Given the description of an element on the screen output the (x, y) to click on. 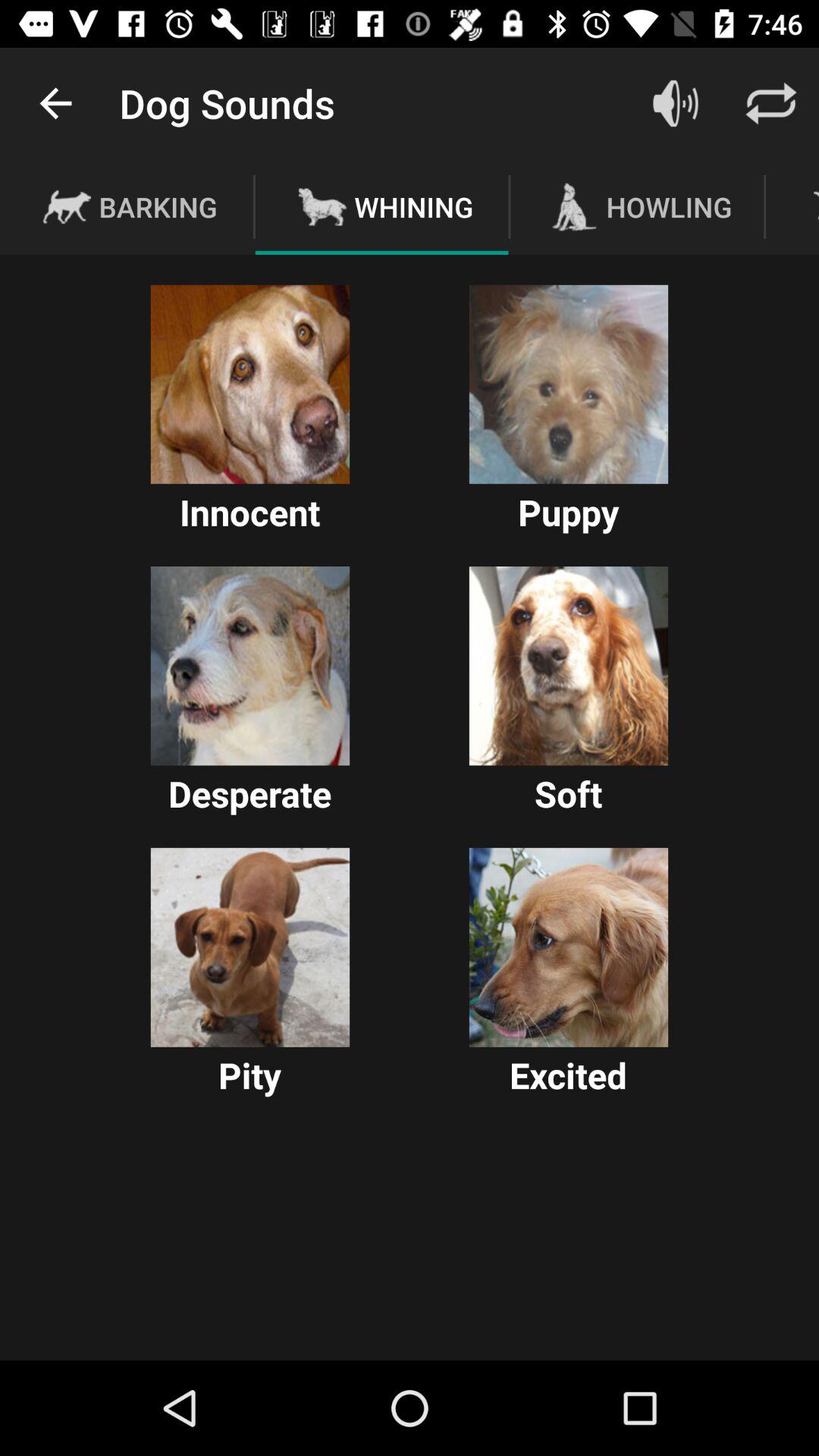
choose the icon above the howling icon (675, 103)
